Given the description of an element on the screen output the (x, y) to click on. 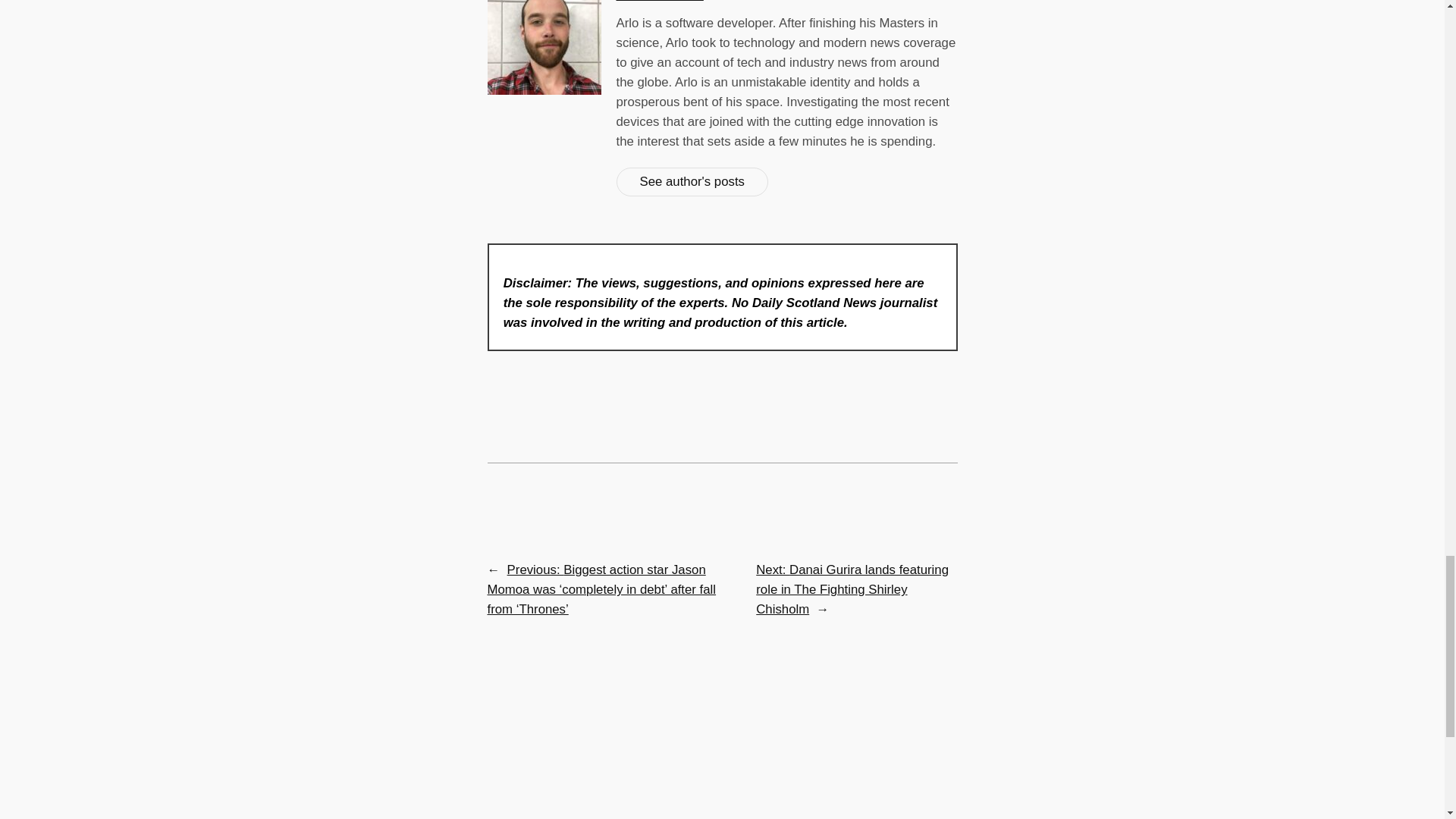
See author's posts (691, 181)
Arlo Martin (659, 0)
